Given the description of an element on the screen output the (x, y) to click on. 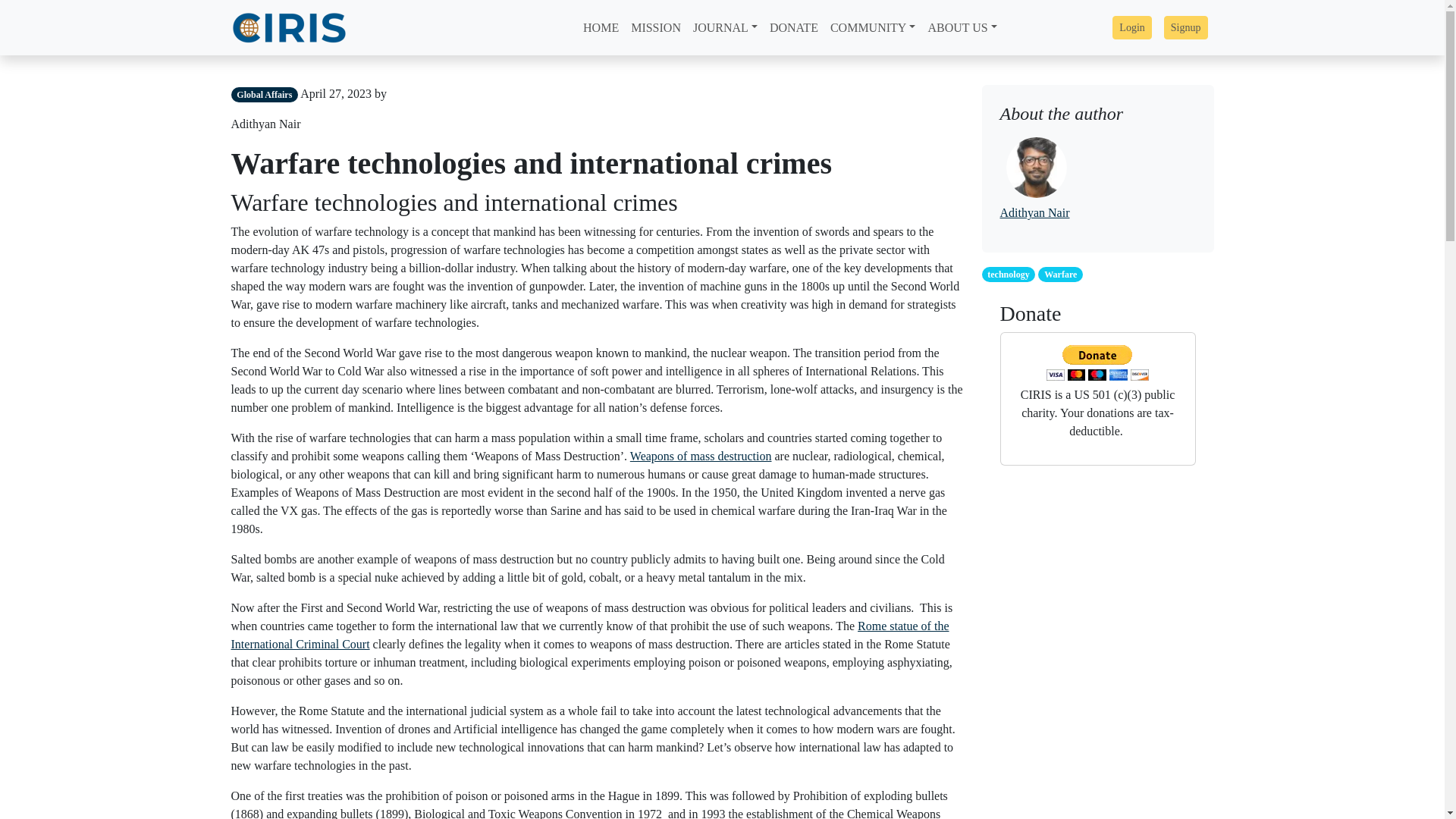
HOME (600, 28)
About CIRIS (962, 28)
Login (1131, 27)
Community (872, 28)
Login (1131, 27)
DONATE (793, 28)
ABOUT US (962, 28)
DONATE (793, 28)
Become a member (1185, 27)
Weapons of mass destruction (700, 455)
